Given the description of an element on the screen output the (x, y) to click on. 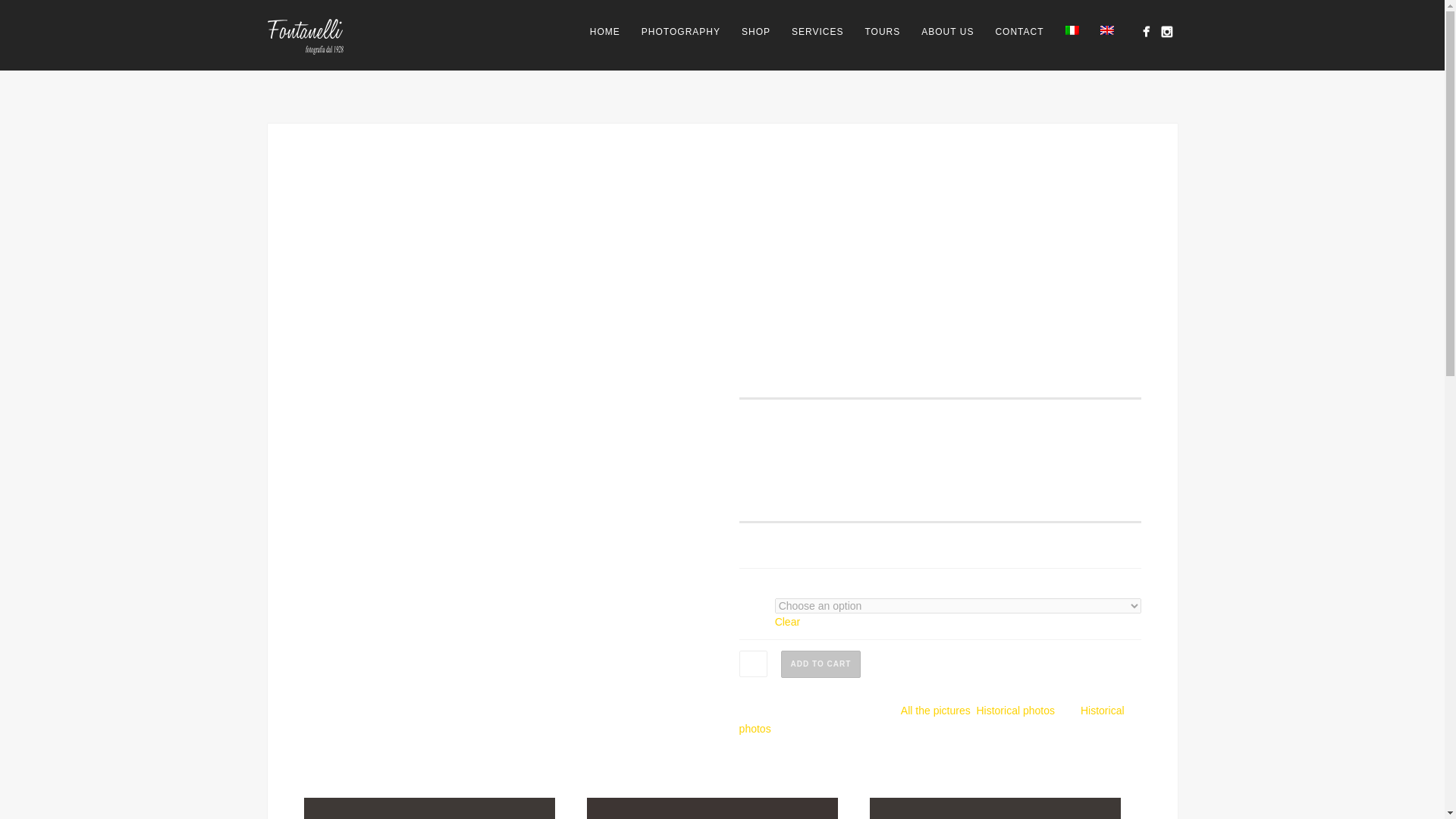
ADD TO CART (820, 664)
SERVICES (816, 31)
TOURS (882, 31)
Historical photos (1014, 710)
All the pictures (936, 710)
PHOTOGRAPHY (680, 31)
1 (753, 663)
HOME (604, 31)
ABOUT US (947, 31)
CONTACT (1019, 31)
Seguici su Instagram (1166, 31)
Seguici su Facebook (1144, 31)
Historical photos (931, 719)
SHOP (755, 31)
Clear (786, 621)
